Given the description of an element on the screen output the (x, y) to click on. 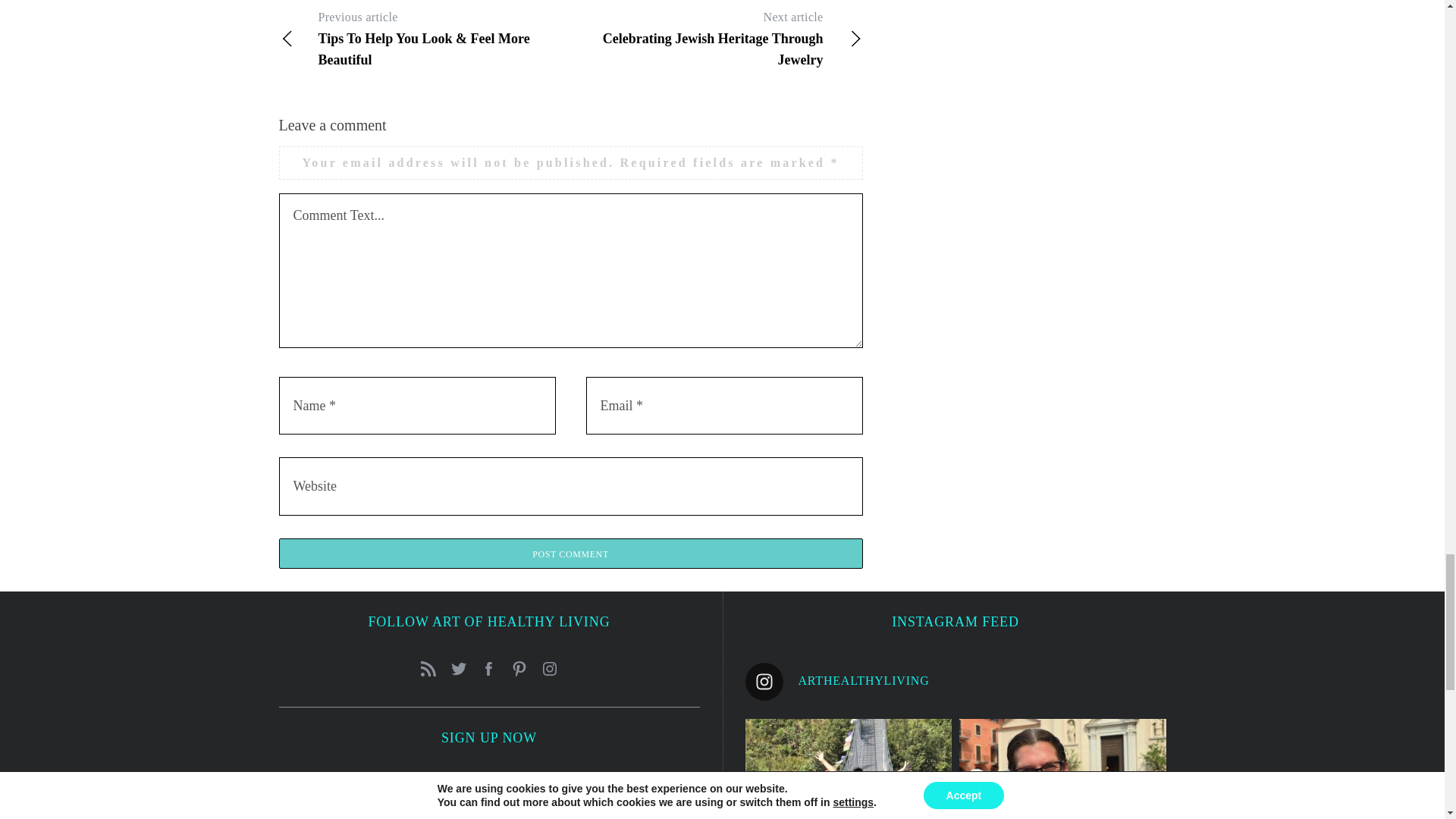
Post Comment (571, 553)
